Given the description of an element on the screen output the (x, y) to click on. 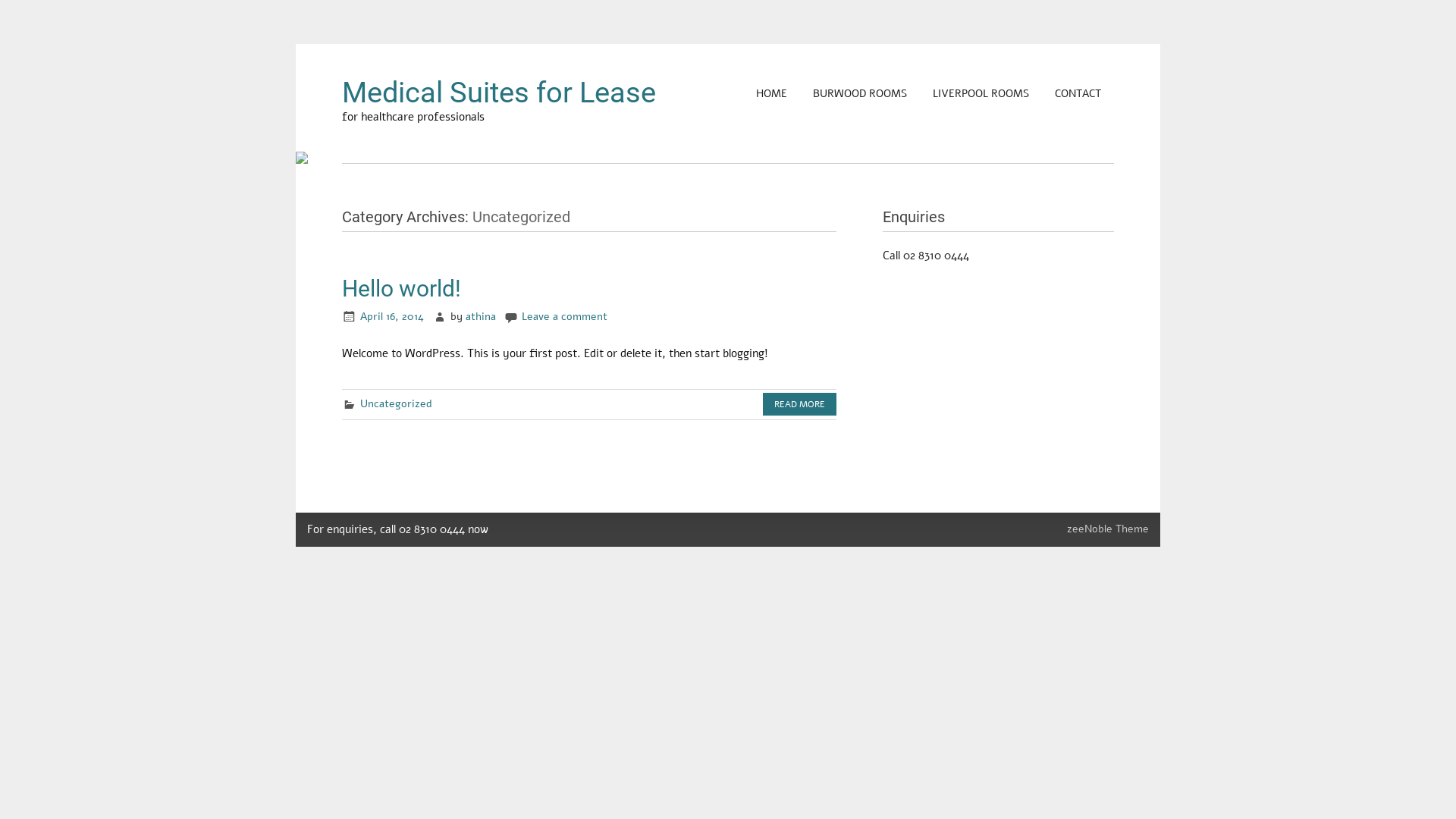
BURWOOD ROOMS Element type: text (859, 93)
LIVERPOOL ROOMS Element type: text (980, 93)
athina Element type: text (480, 316)
zeeNoble Theme Element type: text (1107, 528)
HOME Element type: text (771, 93)
CONTACT Element type: text (1077, 93)
Uncategorized Element type: text (396, 403)
Hello world! Element type: text (401, 288)
READ MORE Element type: text (799, 403)
April 16, 2014 Element type: text (391, 316)
Medical Suites for Lease Element type: text (498, 92)
Leave a comment Element type: text (564, 316)
